Given the description of an element on the screen output the (x, y) to click on. 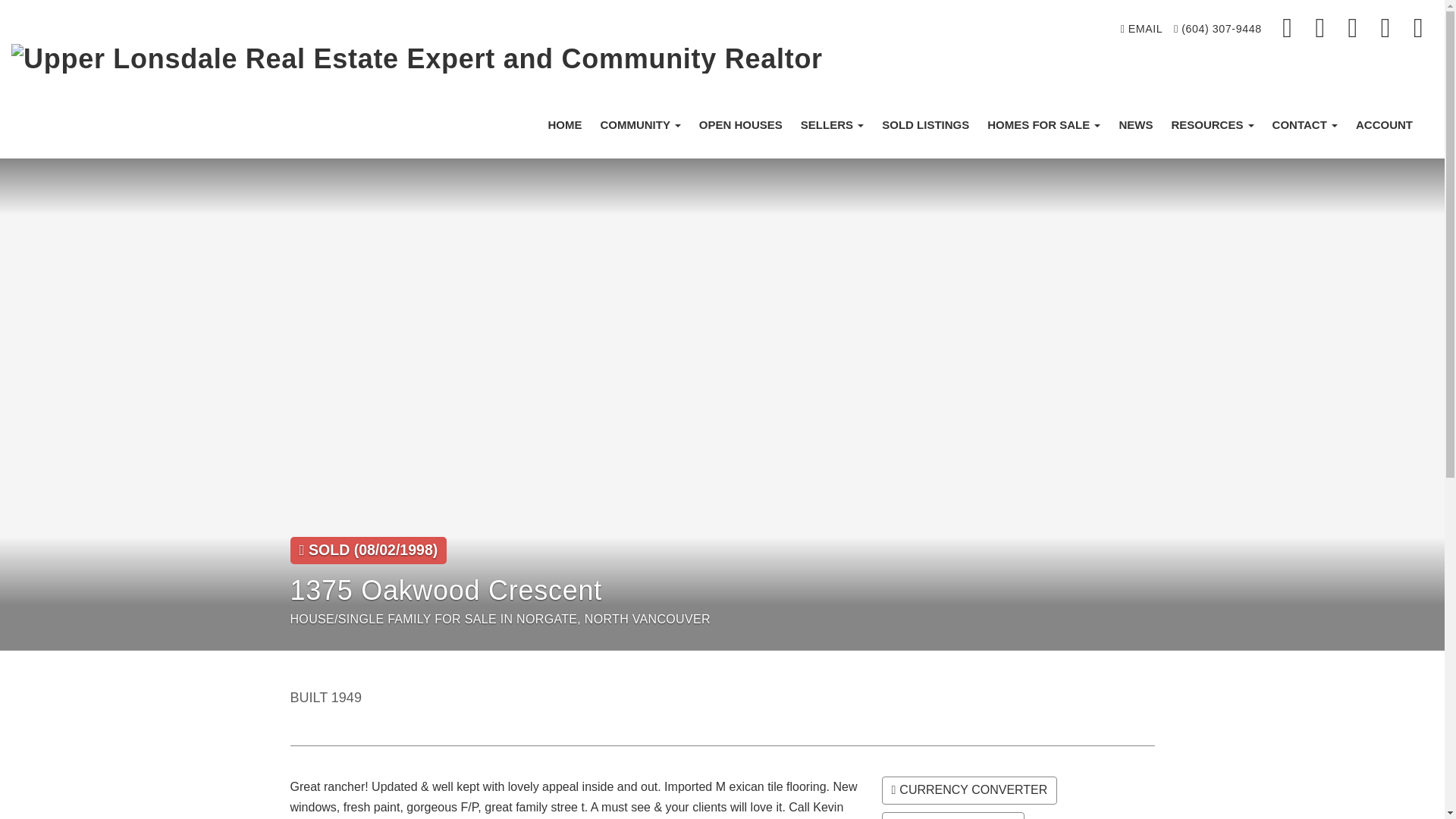
RESOURCES (1211, 124)
HOMES FOR SALE (1043, 124)
CURRENCY CONVERTER (968, 790)
EMAIL (1140, 28)
ACCOUNT (1384, 124)
SOLD LISTINGS (925, 124)
YouTube (1417, 28)
COMMUNITY (639, 124)
CONTACT (1304, 124)
Upper Lonsdale Real Estate Expert and Community Realtor (416, 59)
OPEN HOUSES (741, 124)
LinkedIn (1354, 28)
SHARE PROPERTY (952, 815)
Facebook (1288, 28)
NEWS (1135, 124)
